Given the description of an element on the screen output the (x, y) to click on. 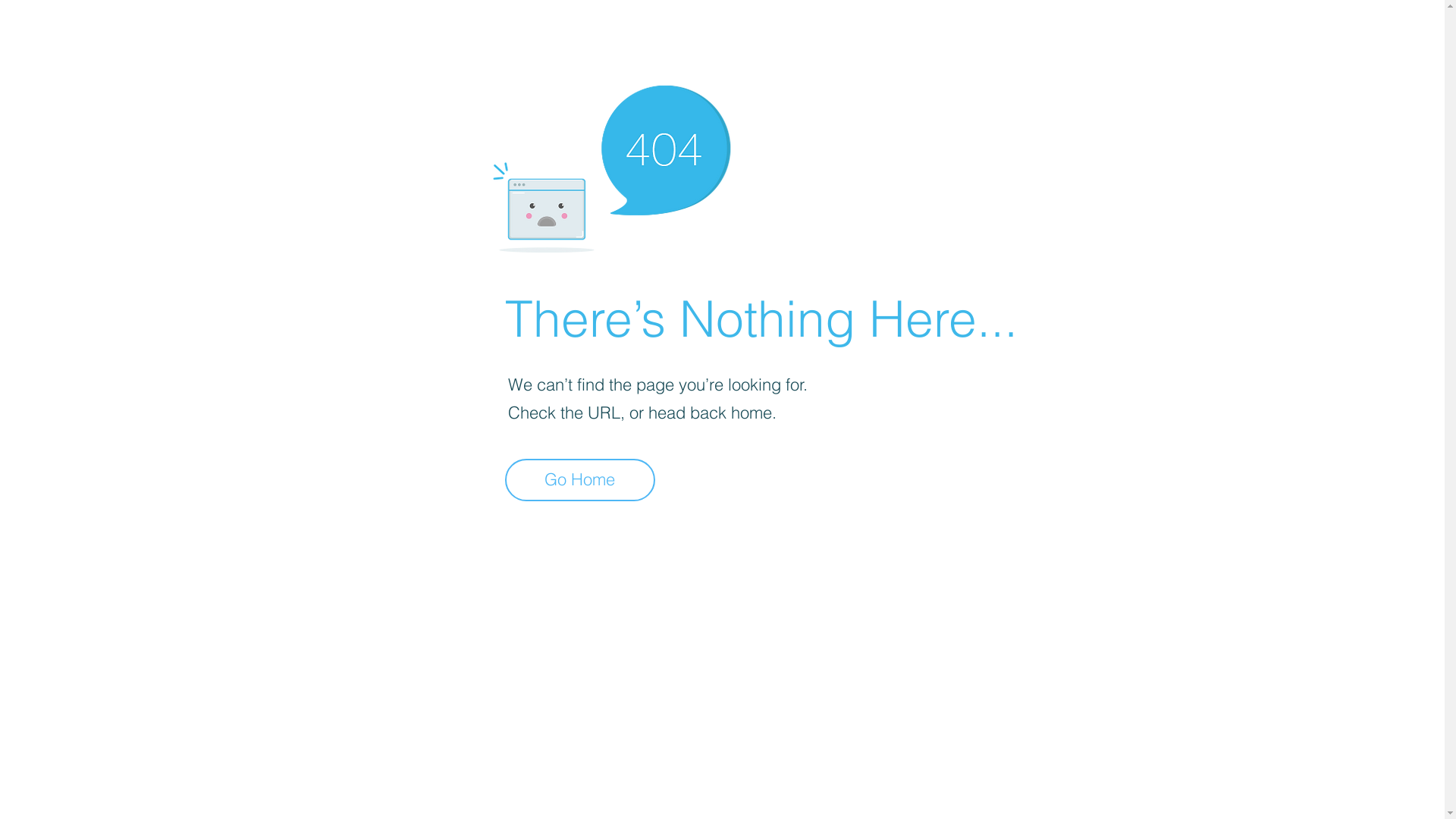
404-icon_2.png Element type: hover (610, 164)
Go Home Element type: text (580, 479)
